Given the description of an element on the screen output the (x, y) to click on. 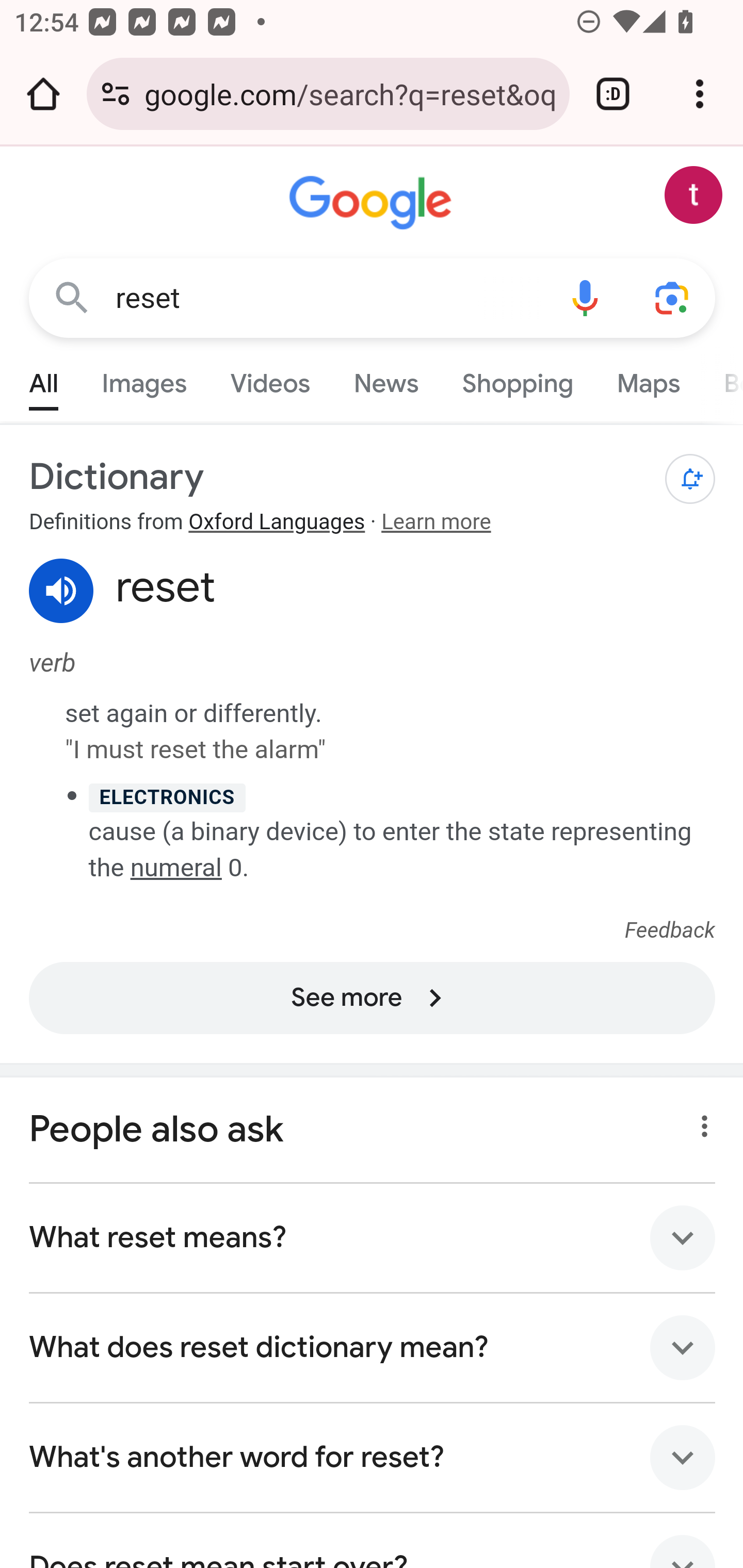
Open the home page (43, 93)
Connection is secure (115, 93)
Switch or close tabs (612, 93)
Customize and control Google Chrome (699, 93)
Google (372, 203)
Google Search (71, 296)
Search using your camera or photos (672, 296)
reset (328, 297)
Images (144, 378)
Videos (270, 378)
News (385, 378)
Shopping (516, 378)
Maps (647, 378)
Get notifications about Word of the day (690, 478)
Oxford Languages (276, 522)
Learn more (435, 522)
 Listen  (61, 591)
numeral (176, 866)
Feedback (669, 930)
See more (372, 996)
About this result (698, 1119)
What reset means? (372, 1237)
What does reset dictionary mean? (372, 1346)
What's another word for reset? (372, 1457)
